Given the description of an element on the screen output the (x, y) to click on. 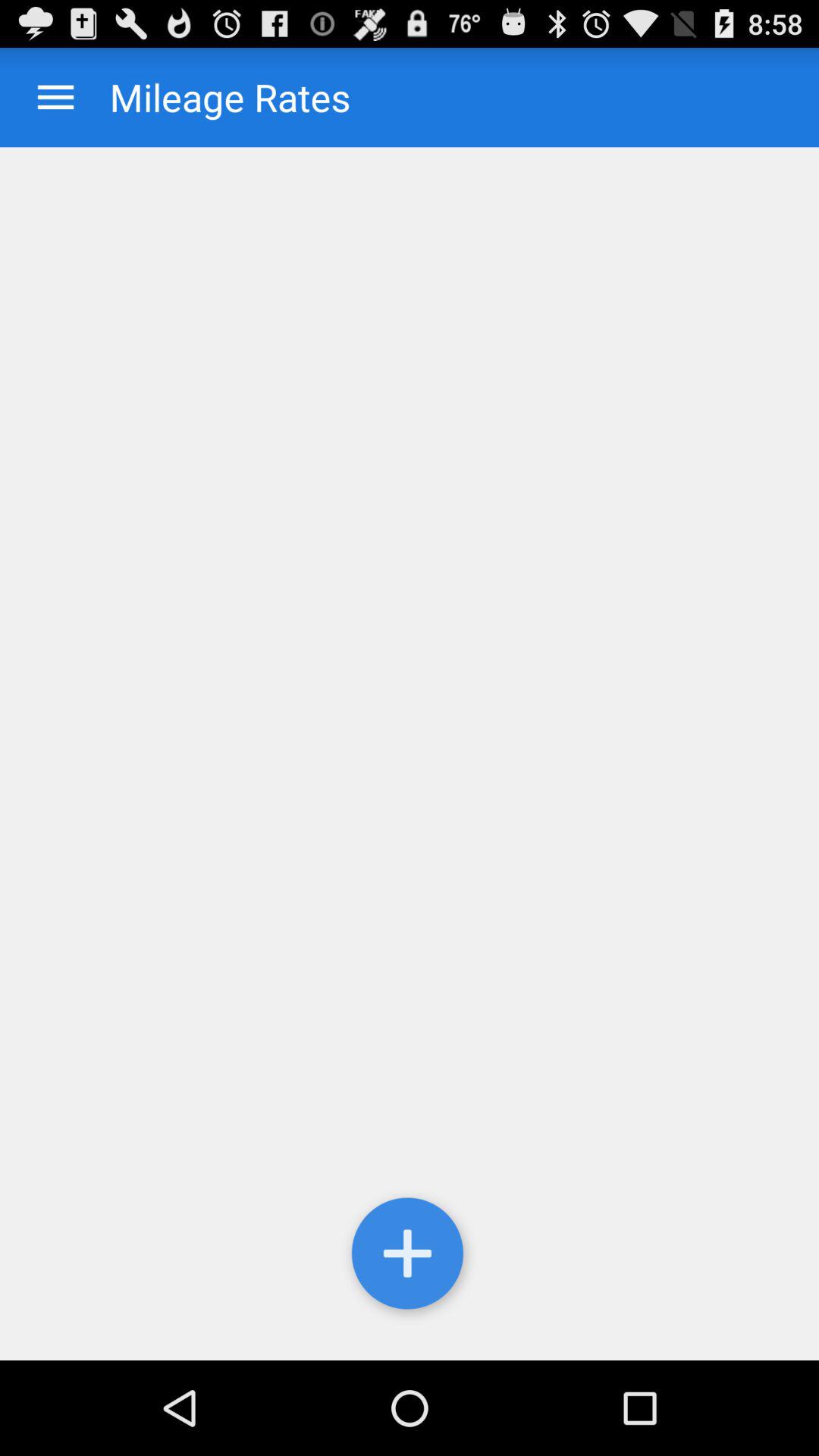
add new (409, 1256)
